Given the description of an element on the screen output the (x, y) to click on. 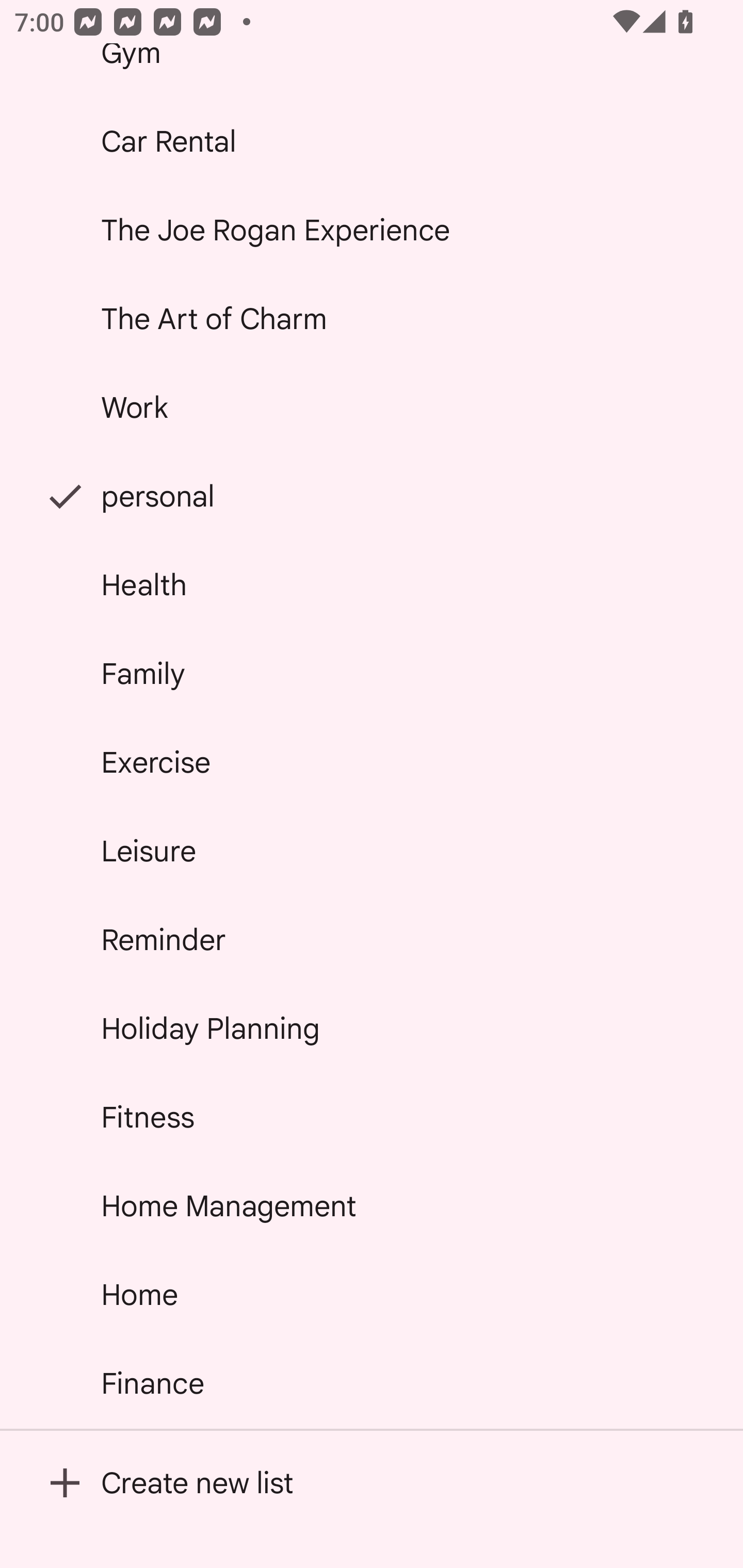
Car Rental (371, 141)
The Joe Rogan Experience (371, 229)
The Art of Charm (371, 318)
Work (371, 407)
personal (371, 496)
Health (371, 584)
Family (371, 673)
Exercise (371, 762)
Leisure (371, 850)
Reminder (371, 939)
Holiday Planning (371, 1028)
Fitness (371, 1117)
Home Management (371, 1205)
Home (371, 1294)
Finance (371, 1383)
Create new list (371, 1482)
